Given the description of an element on the screen output the (x, y) to click on. 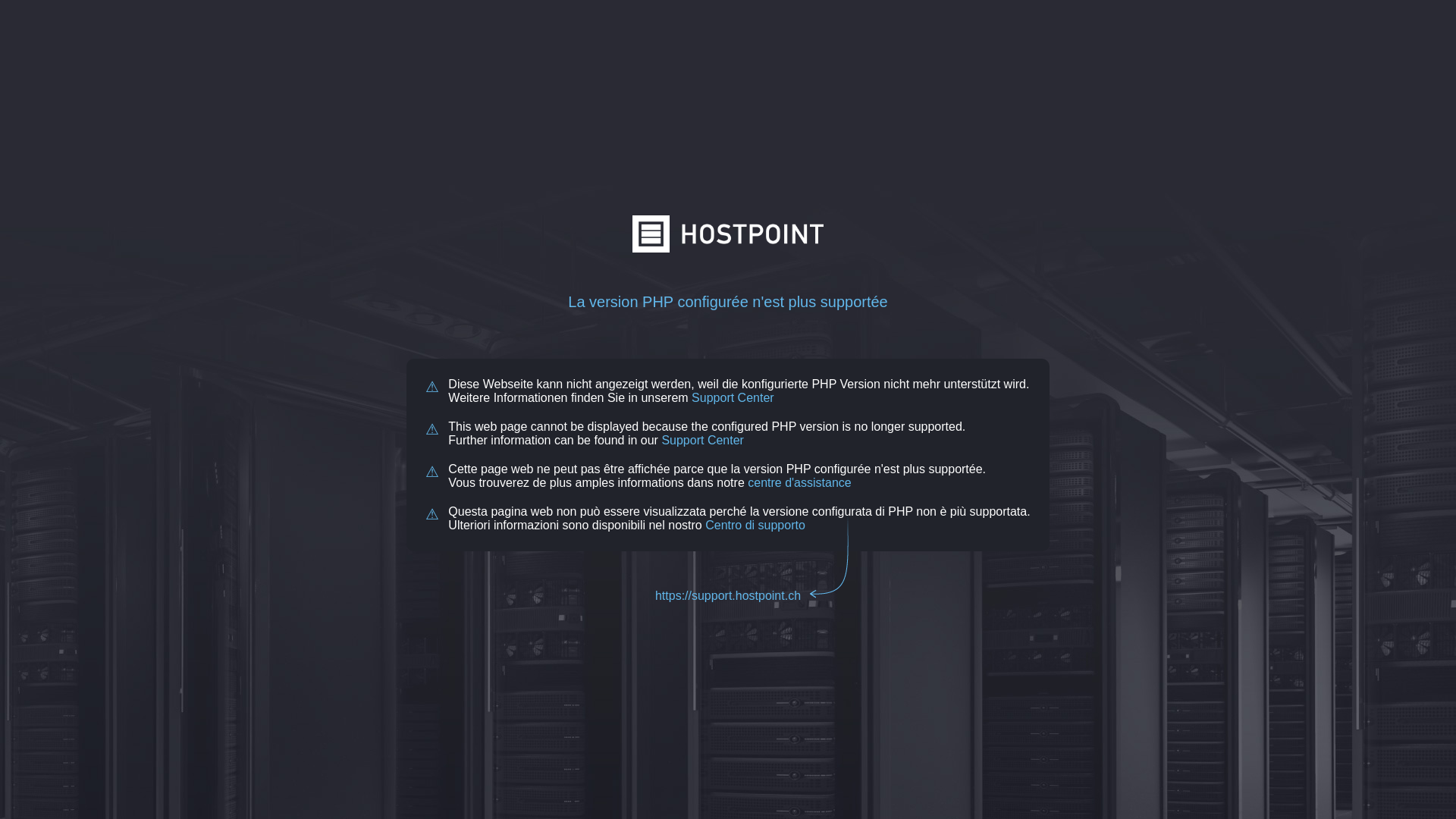
Centro di supporto (754, 524)
Support Center (702, 440)
Support Center (732, 397)
centre d'assistance (799, 481)
